Given the description of an element on the screen output the (x, y) to click on. 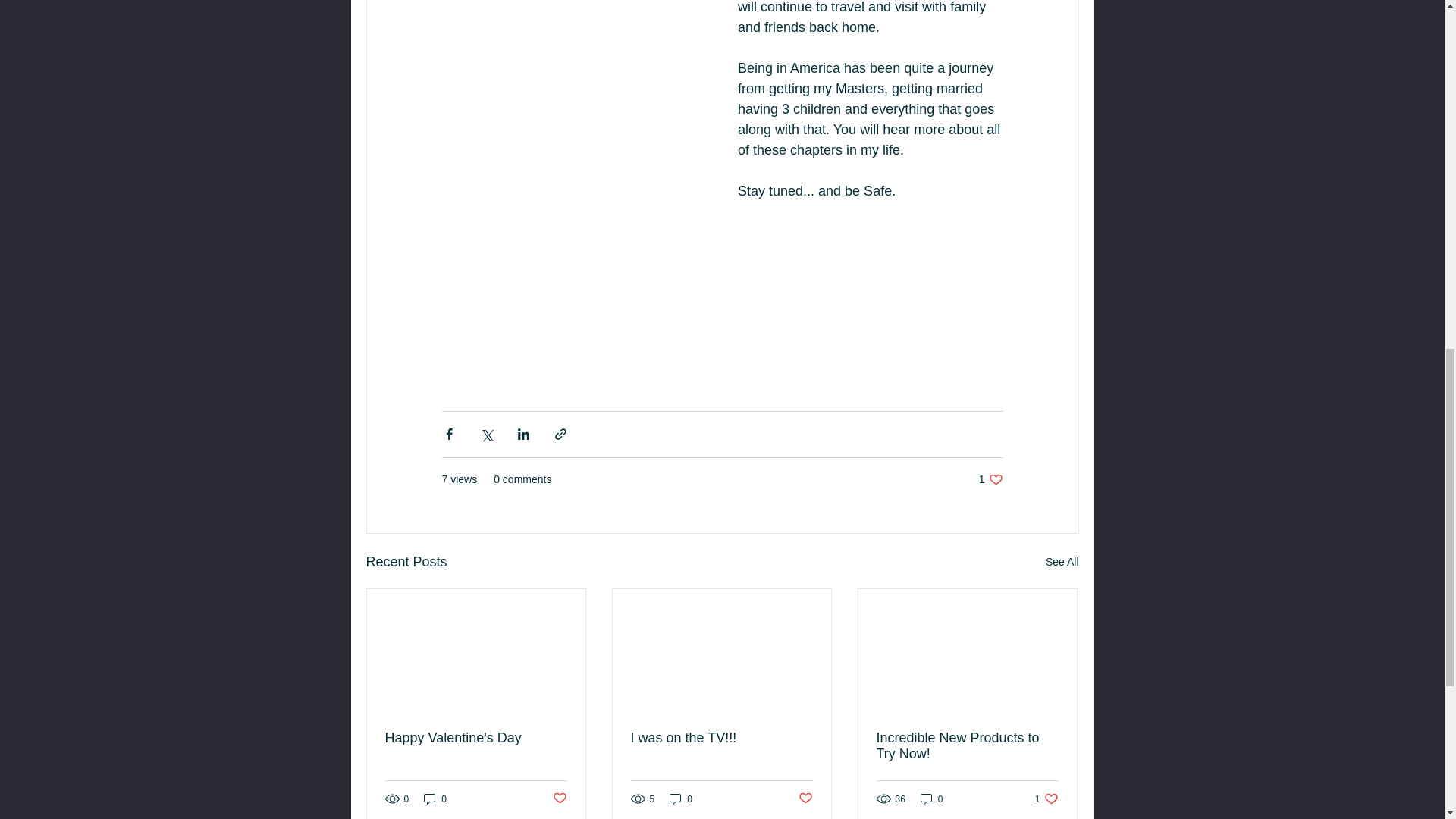
Incredible New Products to Try Now! (967, 746)
0 (931, 798)
0 (681, 798)
Post not marked as liked (804, 798)
Post not marked as liked (558, 798)
0 (435, 798)
See All (1061, 562)
Happy Valentine's Day (990, 479)
I was on the TV!!! (476, 738)
